Given the description of an element on the screen output the (x, y) to click on. 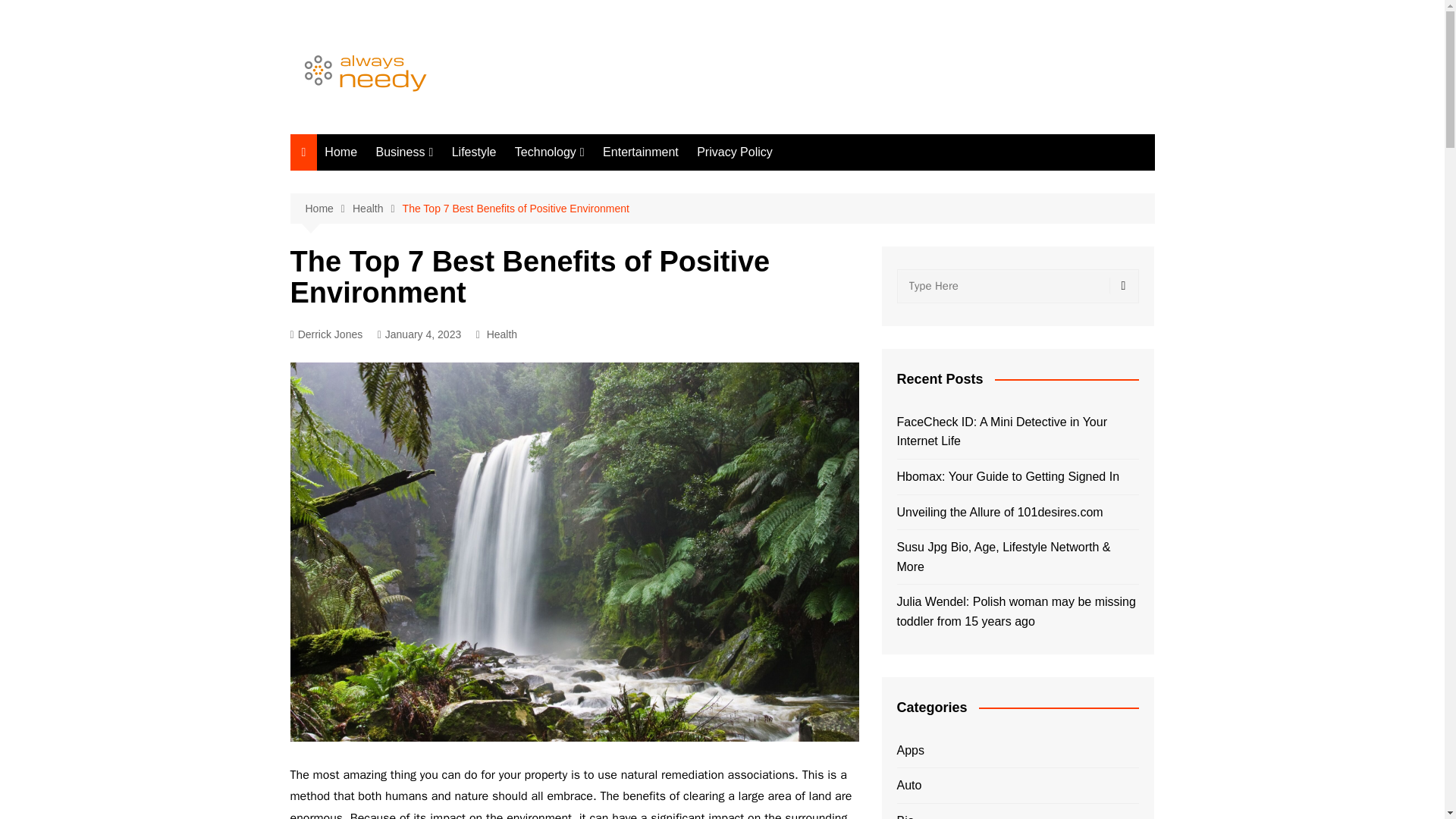
January 4, 2023 (419, 334)
Lifestyle (473, 152)
Health (377, 208)
Real Estate (451, 182)
Derrick Jones (325, 334)
The Top 7 Best Benefits of Positive Environment (515, 208)
Health (501, 334)
Finance (451, 207)
Social Media (590, 207)
Home (341, 152)
Apps (590, 258)
Technology (549, 152)
Business (404, 152)
Digital Marketing (590, 182)
Entertainment (640, 152)
